Given the description of an element on the screen output the (x, y) to click on. 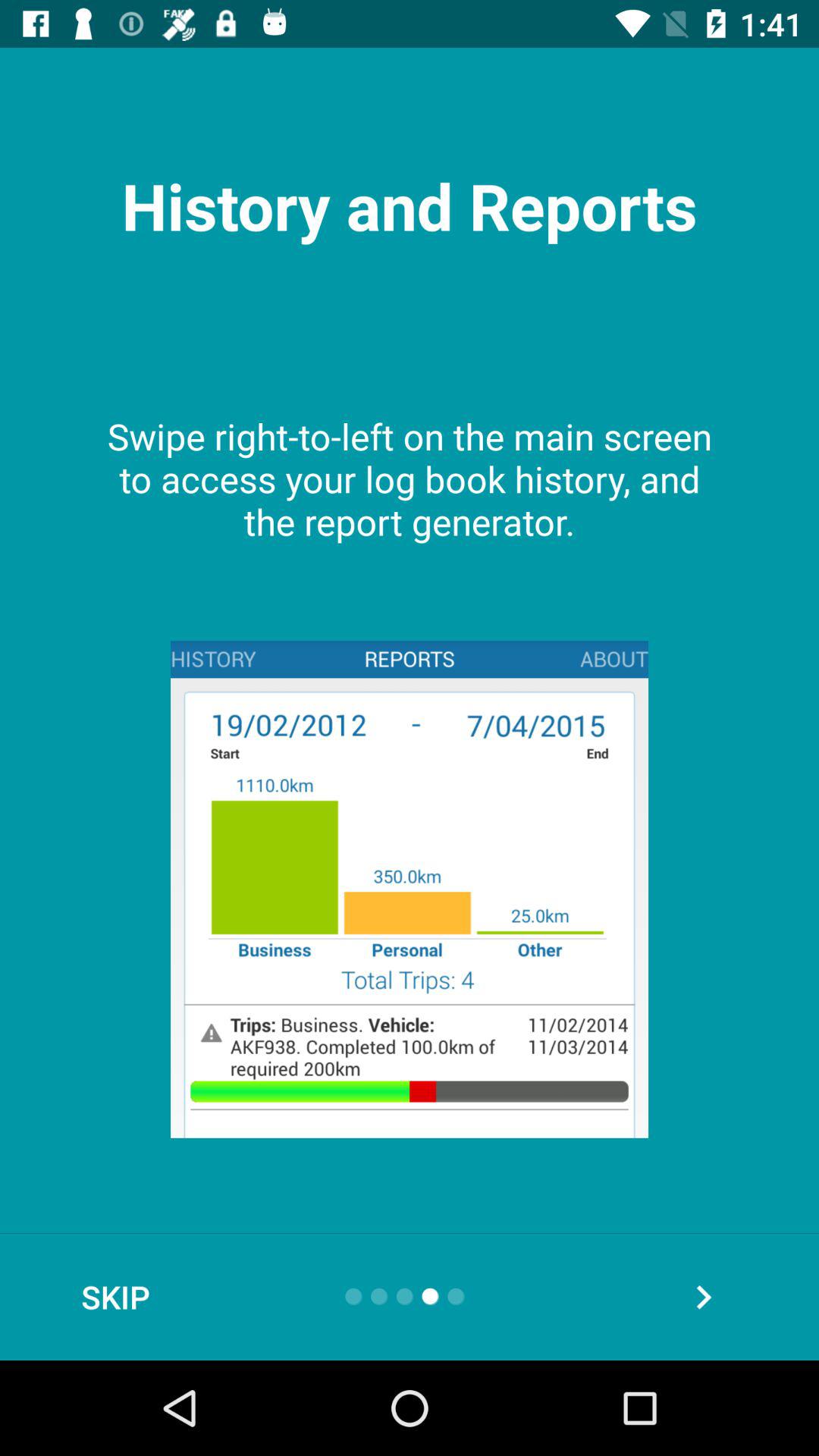
next session (703, 1296)
